Given the description of an element on the screen output the (x, y) to click on. 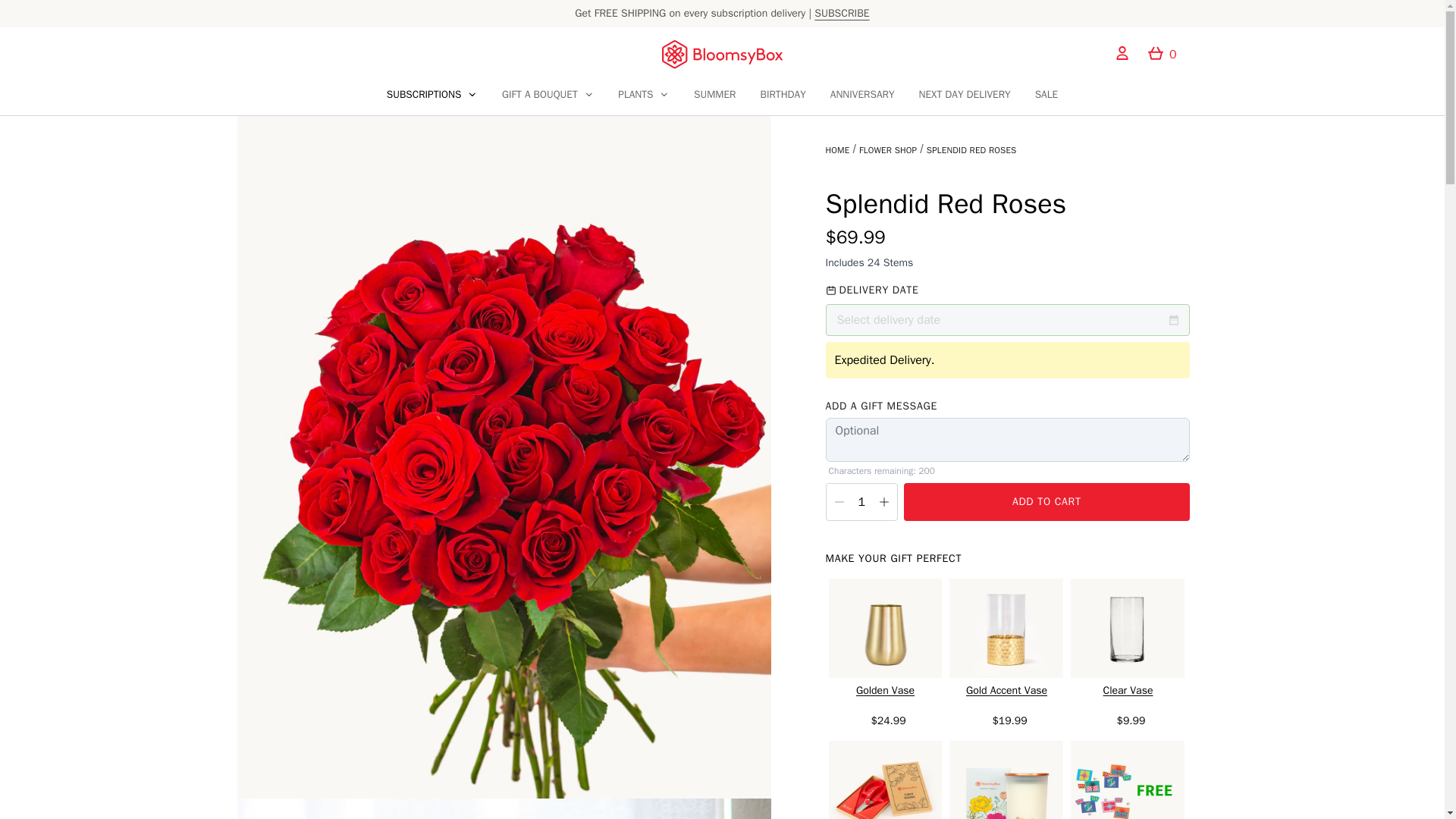
BIRTHDAY (782, 94)
Select delivery date (1007, 319)
PLANTS (634, 94)
SUBSCRIBE (841, 12)
ADD TO CART (1046, 501)
ADD A GIFT MESSAGE (880, 405)
NEXT DAY DELIVERY (965, 95)
NEXT DAY DELIVERY (964, 94)
BIRTHDAY (782, 95)
FLOWER SHOP (888, 149)
GIFT A BOUQUET (547, 95)
ANNIVERSARY (862, 94)
SUBSCRIPTIONS (424, 94)
SALE (1046, 95)
